Given the description of an element on the screen output the (x, y) to click on. 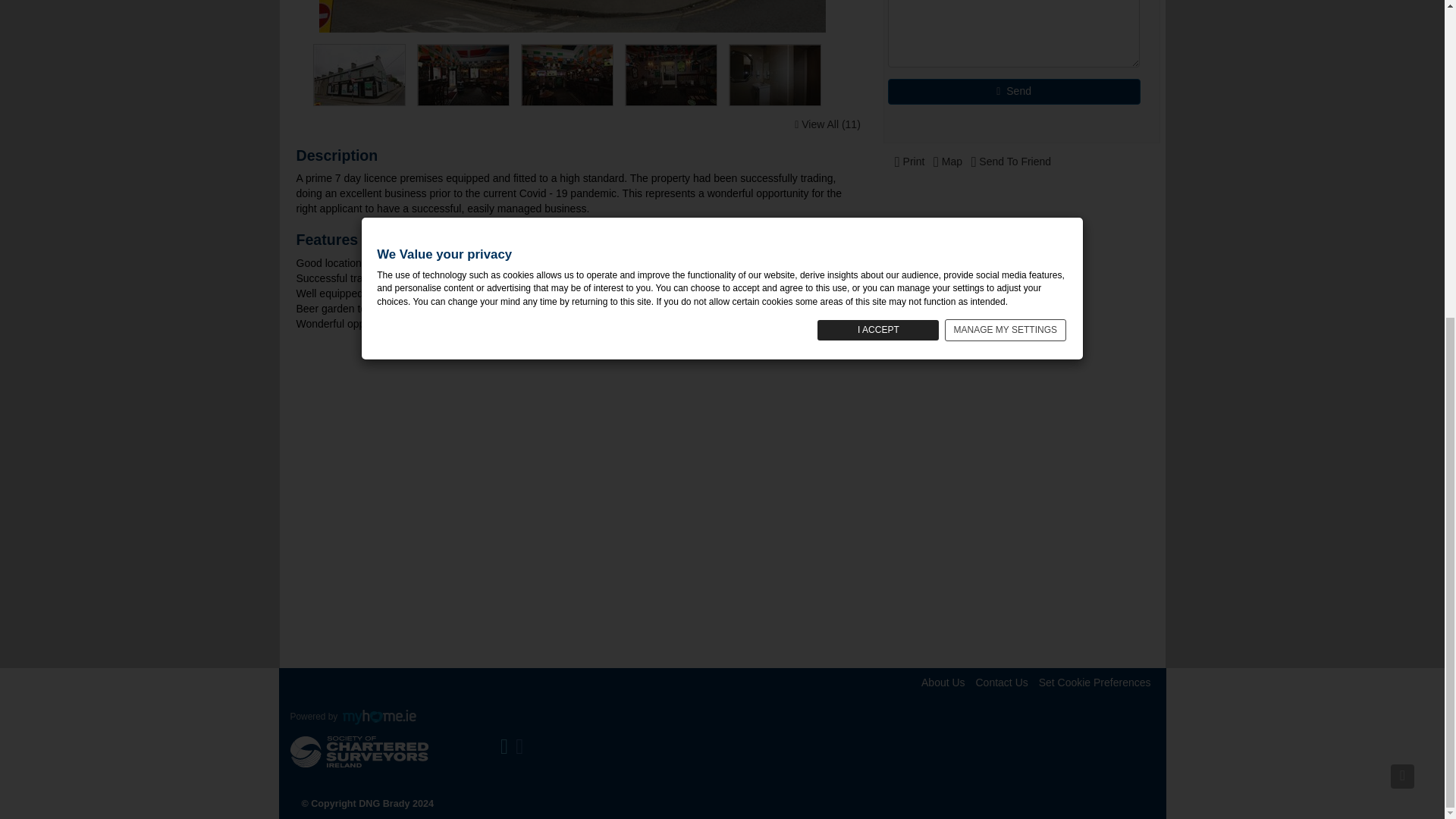
Nolans Bar, Chord Road (359, 75)
Image (364, 75)
Send To Friend (1011, 161)
LET AGREED (572, 16)
Print (909, 161)
Image (572, 16)
Nolans Bar, Chord Road (566, 75)
Map (947, 161)
Image (780, 75)
About Us (943, 682)
Image (468, 75)
Nolans Bar, Chord Road (571, 16)
Nolans Bar, Chord Road (775, 75)
  Send (1014, 91)
Nolans Bar, Chord Road (462, 75)
